Given the description of an element on the screen output the (x, y) to click on. 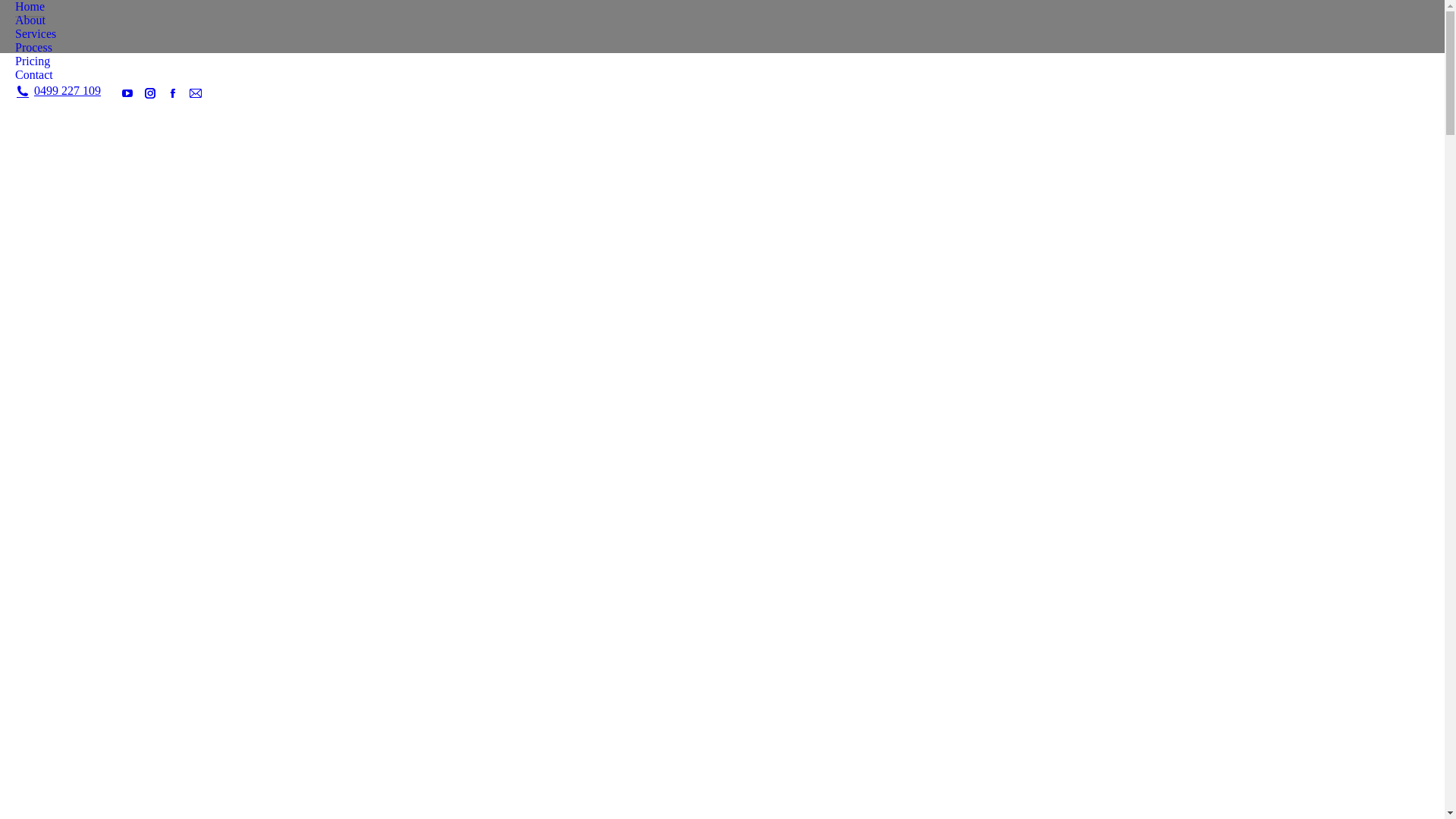
Services Element type: text (35, 33)
Process Element type: text (33, 47)
YouTube page opens in new window Element type: hover (127, 93)
Mail page opens in new window Element type: hover (195, 93)
Pricing Element type: text (32, 61)
About Element type: text (30, 20)
Home Element type: text (29, 6)
Instagram page opens in new window Element type: hover (150, 93)
Contact Element type: text (34, 74)
0499 227 109 Element type: text (57, 90)
Facebook page opens in new window Element type: hover (172, 93)
